Given the description of an element on the screen output the (x, y) to click on. 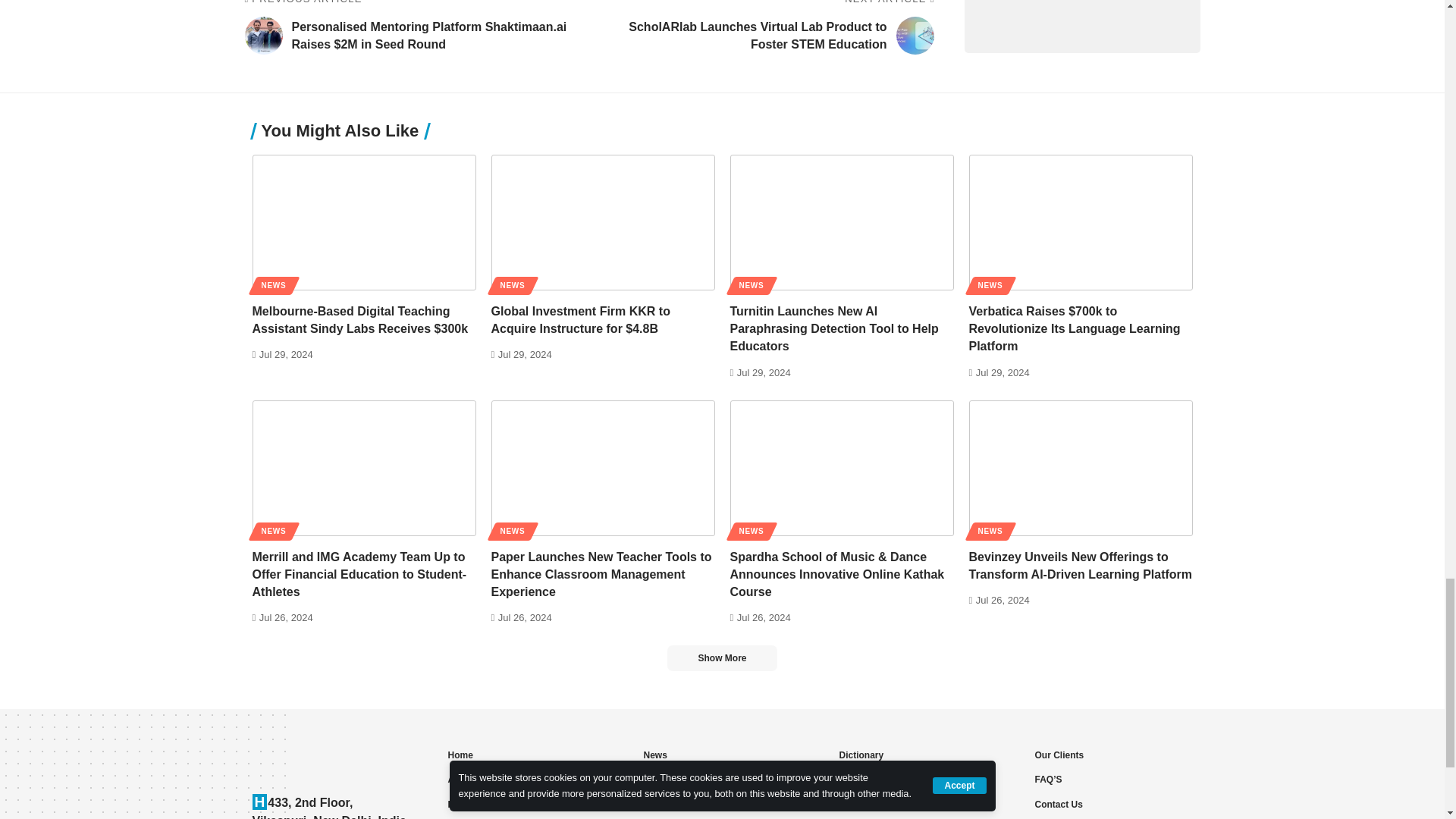
Scholarlab-launches-virtual-lab-product (915, 35)
Shaktimaanai-raises-m (263, 35)
